Given the description of an element on the screen output the (x, y) to click on. 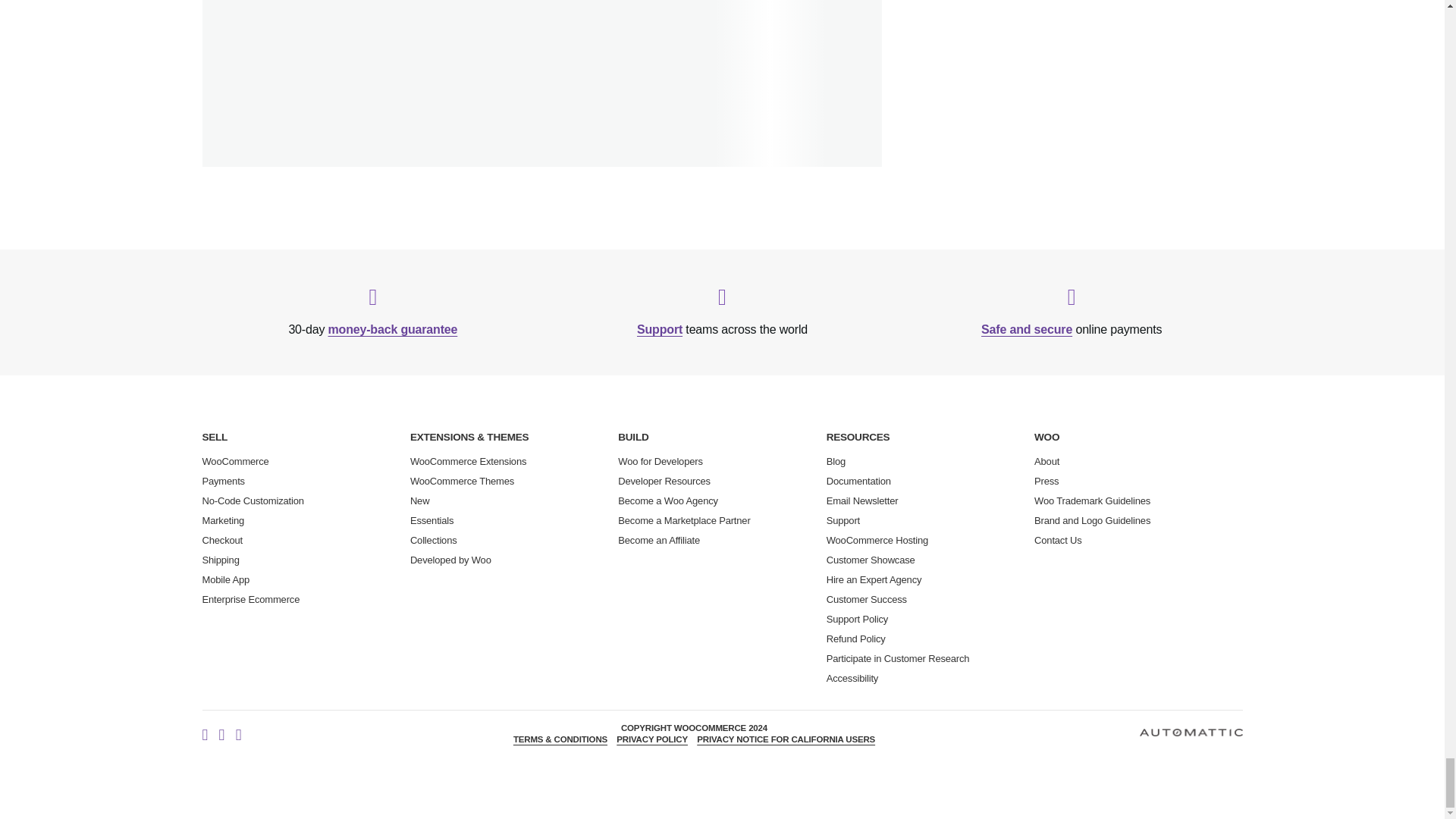
Safe and secure (1026, 328)
Shipping (220, 559)
Payments (223, 480)
New (419, 500)
Support (659, 328)
Become a Woo Agency (667, 500)
Become an Affiliate (658, 540)
WooCommerce (234, 460)
Collections (433, 540)
Become a Marketplace Partner (683, 520)
Enterprise Ecommerce (250, 599)
WooCommerce Themes (461, 480)
Checkout (222, 540)
No-Code Customization (252, 500)
Essentials (432, 520)
